Given the description of an element on the screen output the (x, y) to click on. 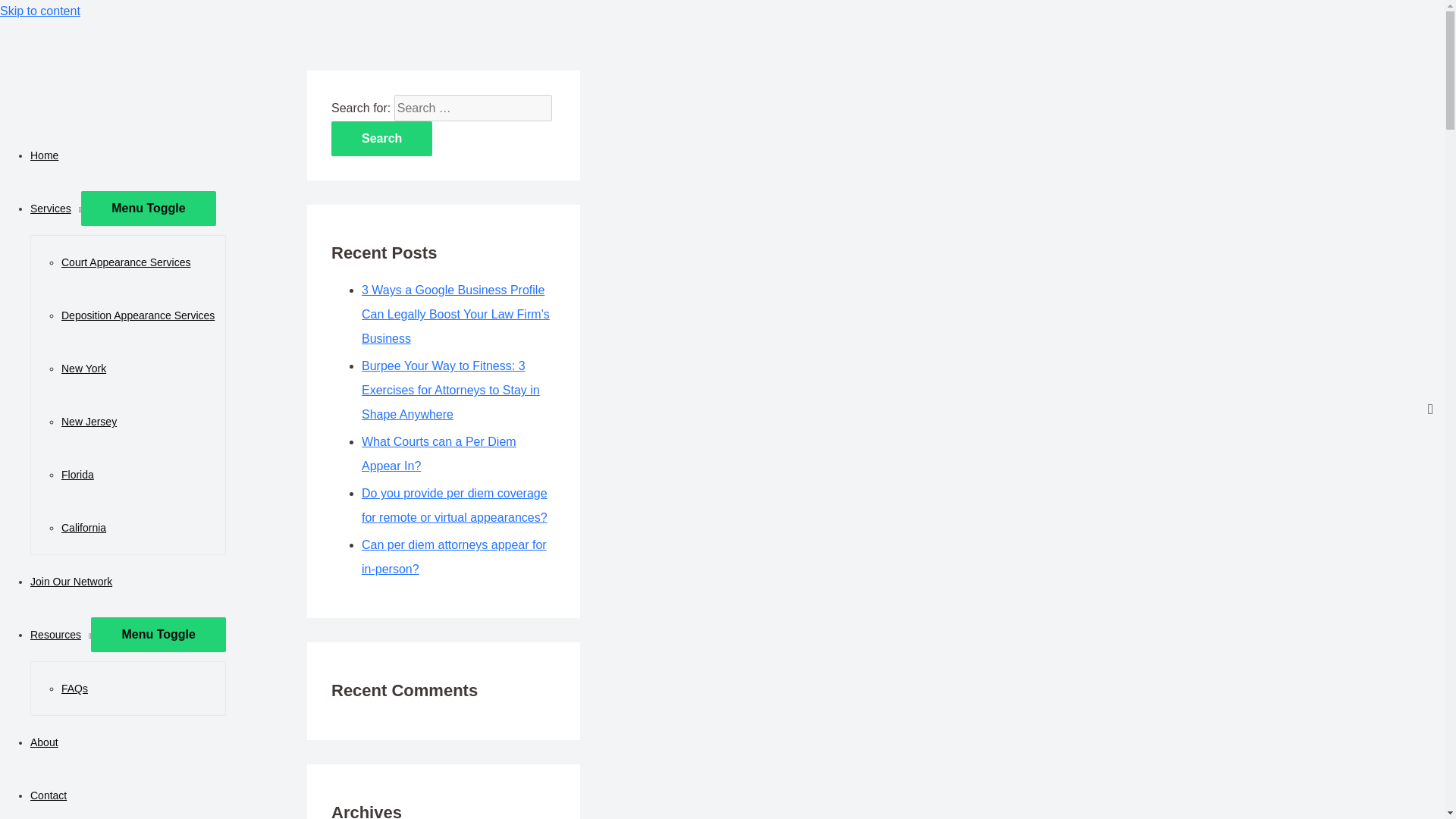
California (83, 527)
Deposition Appearance Services (137, 315)
Search (381, 138)
Skip to content (40, 10)
New Jersey (88, 421)
Florida (77, 474)
Court Appearance Services (125, 262)
Services (55, 208)
FAQs (74, 688)
Contact (48, 795)
